Given the description of an element on the screen output the (x, y) to click on. 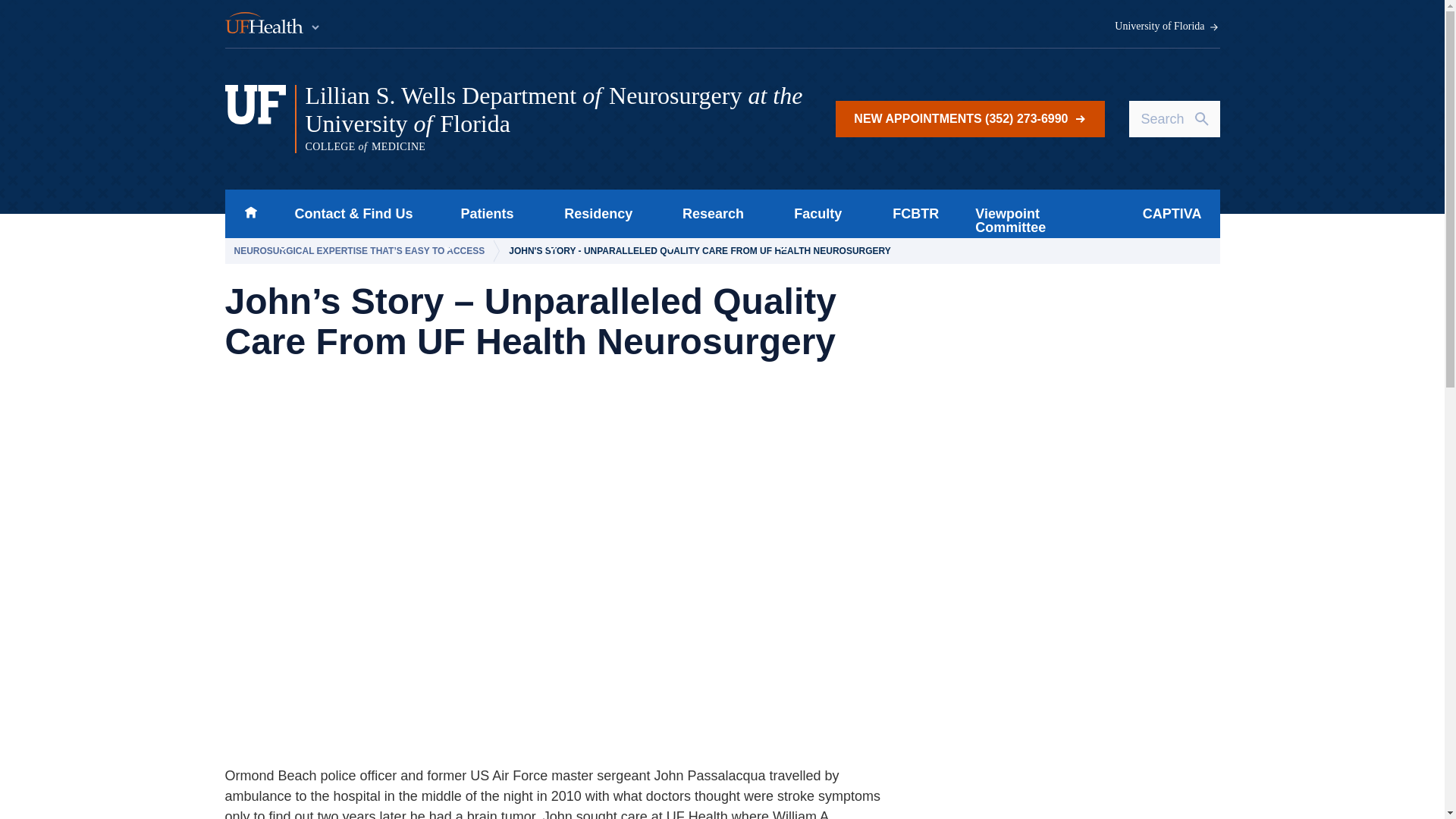
UF Health (272, 24)
Home (250, 213)
Patients (482, 213)
University of Florida (1167, 26)
